Given the description of an element on the screen output the (x, y) to click on. 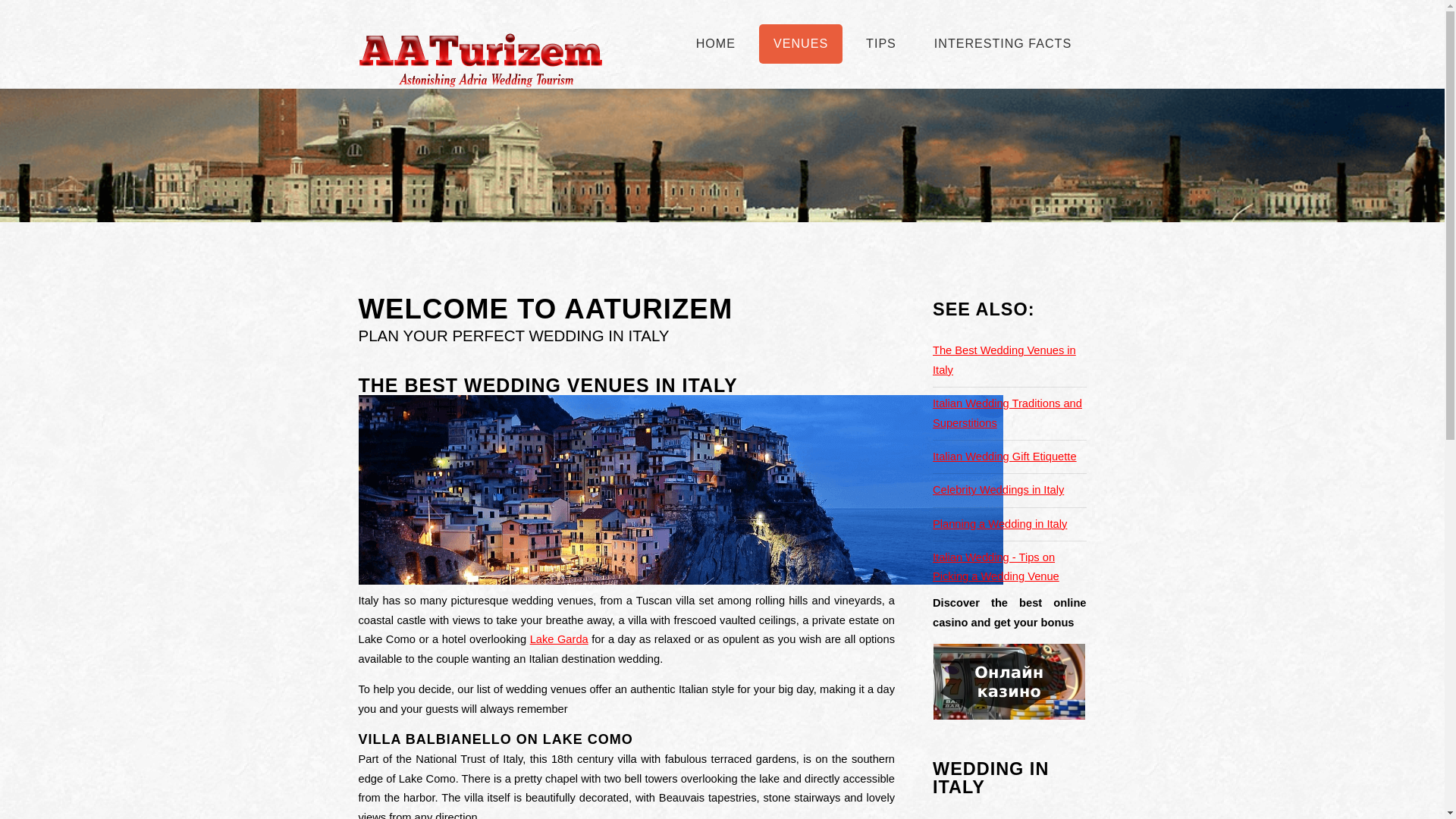
TIPS (881, 43)
Lake Garda (558, 639)
HOME (715, 43)
Italian Wedding - Tips on Picking a Wedding Venue (996, 567)
The Best Wedding Venues in Italy (1004, 359)
Italian Wedding Gift Etiquette (1005, 456)
THE BEST WEDDING VENUES IN ITALY (547, 384)
Celebrity Weddings in Italy (998, 490)
VENUES (800, 43)
Italian Wedding Traditions and Superstitions (1007, 413)
INTERESTING FACTS (1002, 43)
Planning a Wedding in Italy (1000, 523)
